Given the description of an element on the screen output the (x, y) to click on. 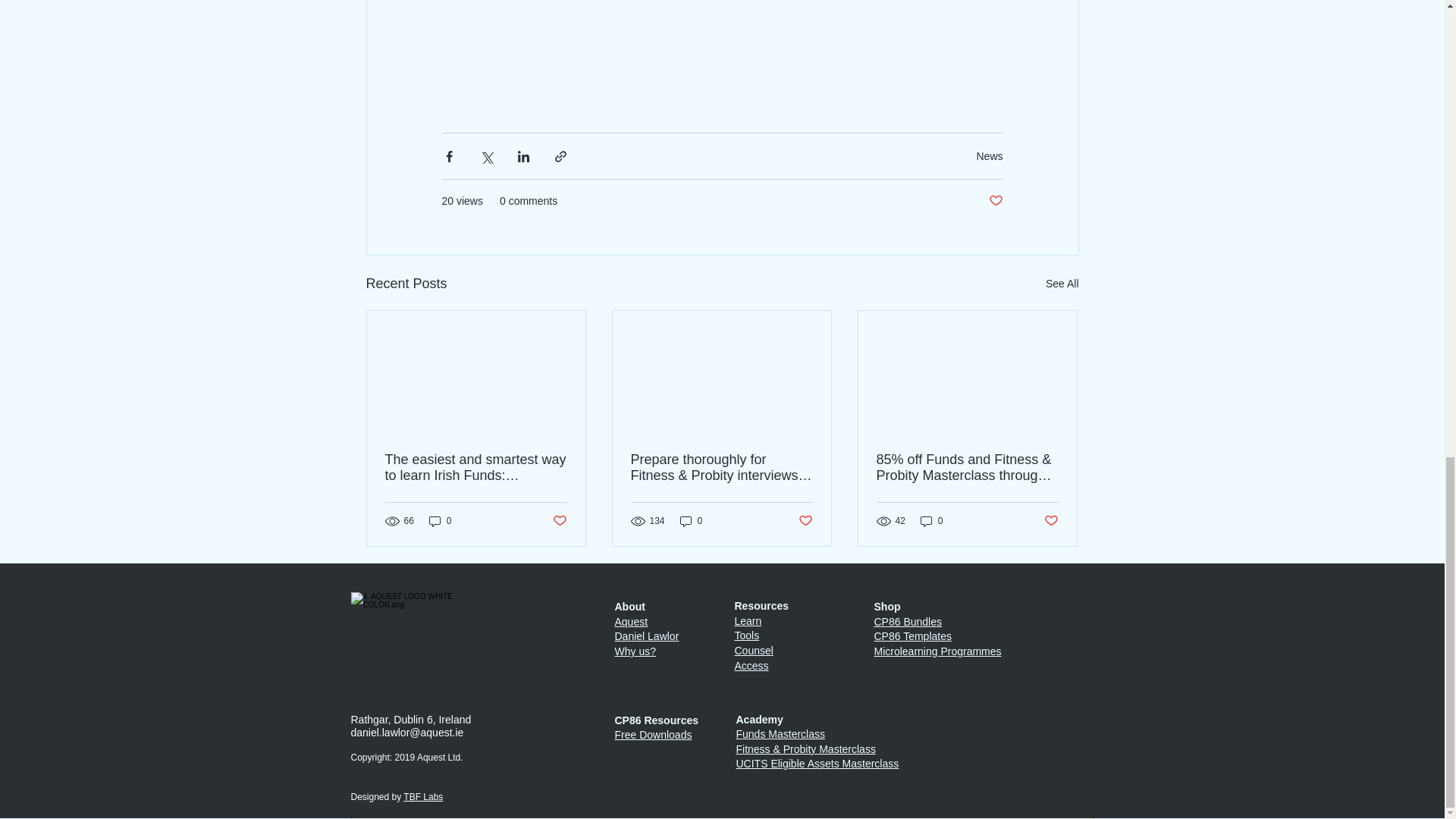
News (989, 155)
See All (1061, 283)
Aquest (630, 622)
0 (440, 521)
0 (691, 521)
Post not marked as liked (804, 521)
Post not marked as liked (1050, 521)
Post not marked as liked (995, 201)
0 (931, 521)
Post not marked as liked (558, 521)
